Given the description of an element on the screen output the (x, y) to click on. 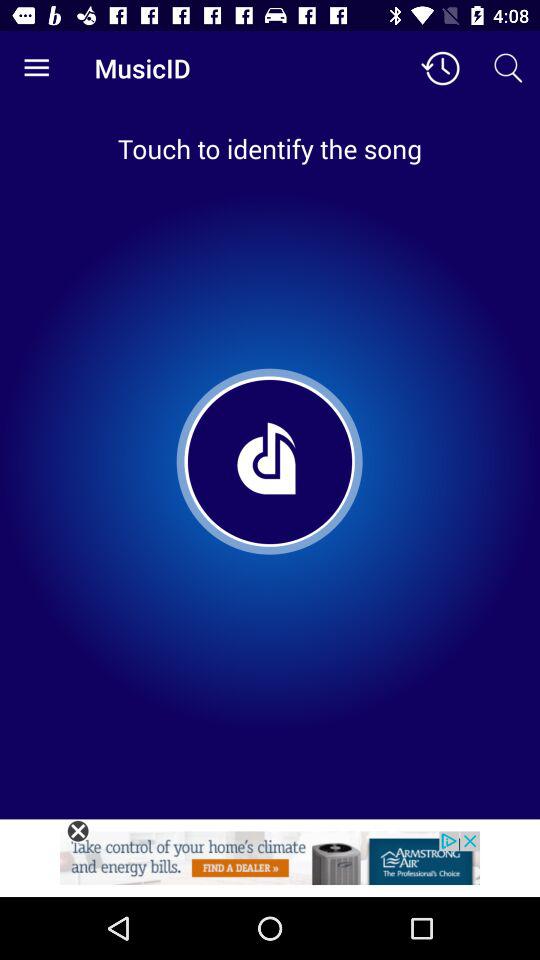
cancel (78, 831)
